Given the description of an element on the screen output the (x, y) to click on. 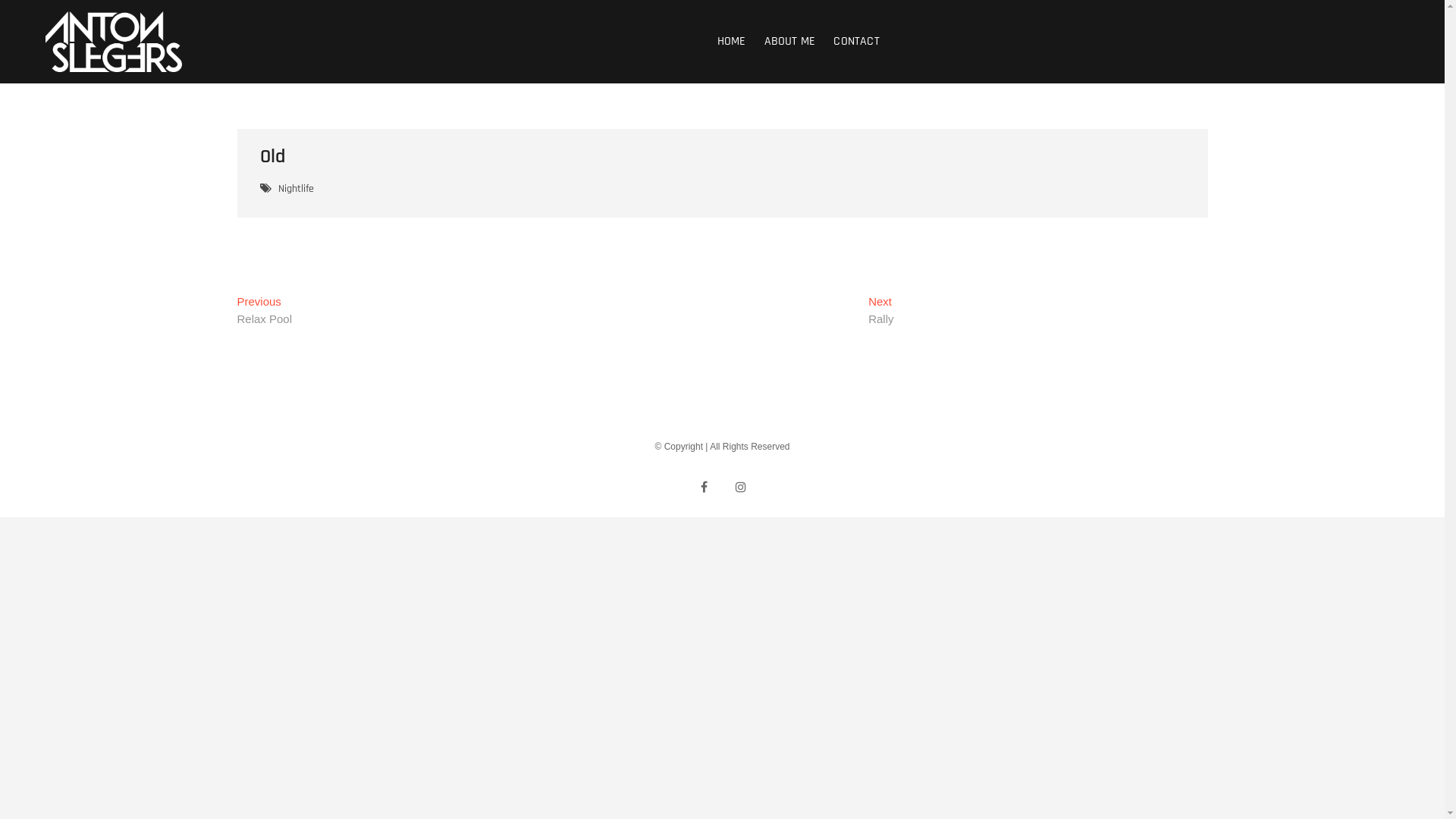
HOME Element type: text (731, 41)
ABOUT ME Element type: text (789, 41)
instagram Element type: text (740, 486)
Previous
Previous post:
Relax Pool Element type: text (263, 311)
Anton Slegers Element type: text (259, 36)
Nightlife Element type: text (296, 190)
Next
Next post:
Rally Element type: text (880, 311)
facebook Element type: text (703, 486)
CONTACT Element type: text (855, 41)
